Given the description of an element on the screen output the (x, y) to click on. 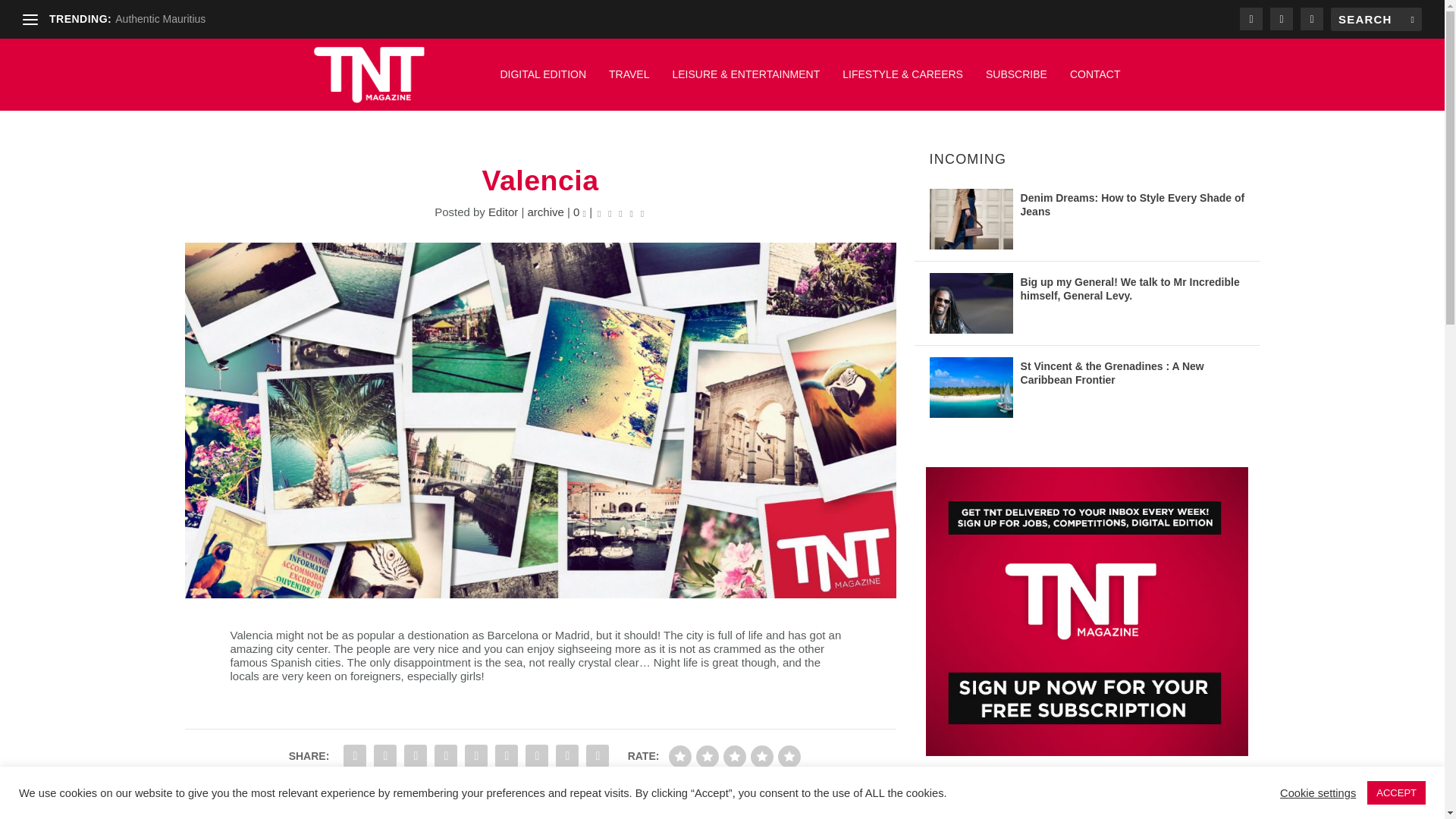
Share "Valencia" via Pinterest (445, 756)
Authentic Mauritius (160, 19)
Editor (502, 211)
0 (579, 211)
SUBSCRIBE (1015, 82)
archive (545, 211)
Share "Valencia" via Buffer (506, 756)
Share "Valencia" via Tumblr (415, 756)
DIGITAL EDITION (542, 82)
Share "Valencia" via LinkedIn (476, 756)
